Given the description of an element on the screen output the (x, y) to click on. 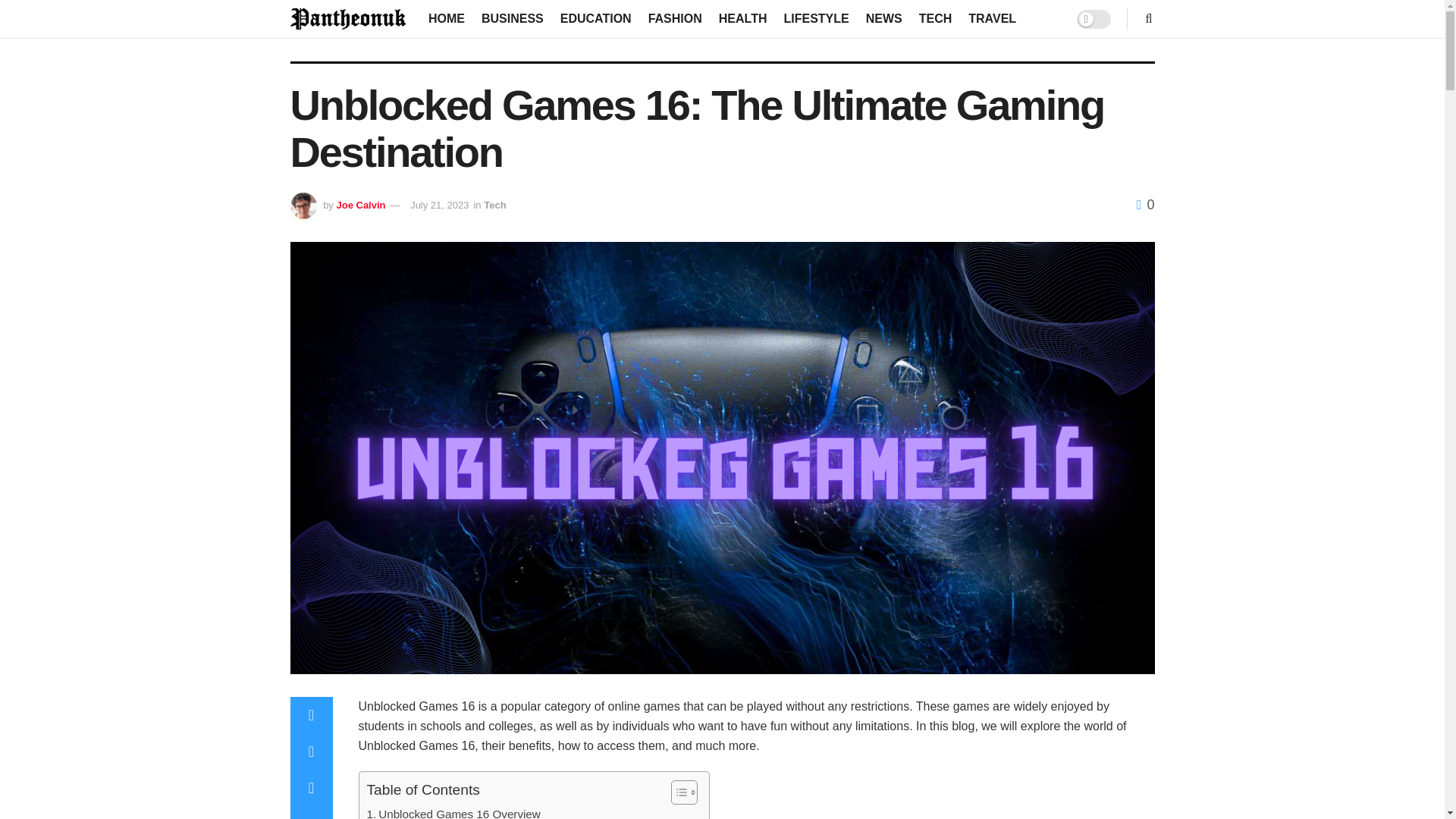
TECH (935, 18)
HOME (446, 18)
Unblocked Games 16 Overview (453, 812)
Tech (494, 204)
TRAVEL (992, 18)
Unblocked Games 16 Overview (453, 812)
NEWS (884, 18)
LIFESTYLE (815, 18)
Joe Calvin (360, 204)
BUSINESS (512, 18)
